Given the description of an element on the screen output the (x, y) to click on. 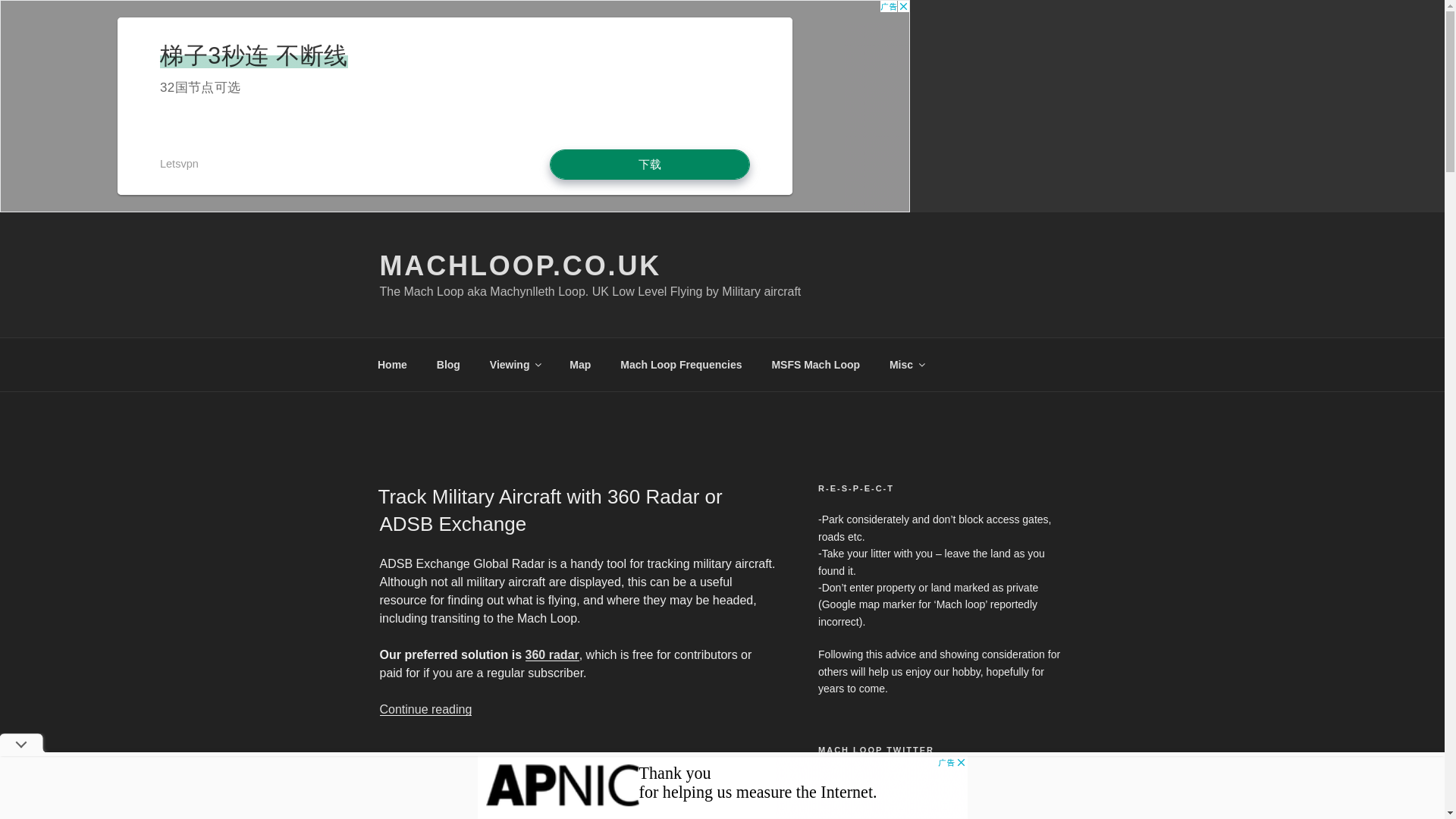
Blog (448, 364)
360 radar (552, 654)
Viewing (514, 364)
Misc (906, 364)
Track Military Aircraft with 360 Radar or ADSB Exchange (549, 510)
Map (580, 364)
Advertisement (722, 787)
Home (392, 364)
MSFS Mach Loop (815, 364)
Mach Loop Frequencies (681, 364)
